Given the description of an element on the screen output the (x, y) to click on. 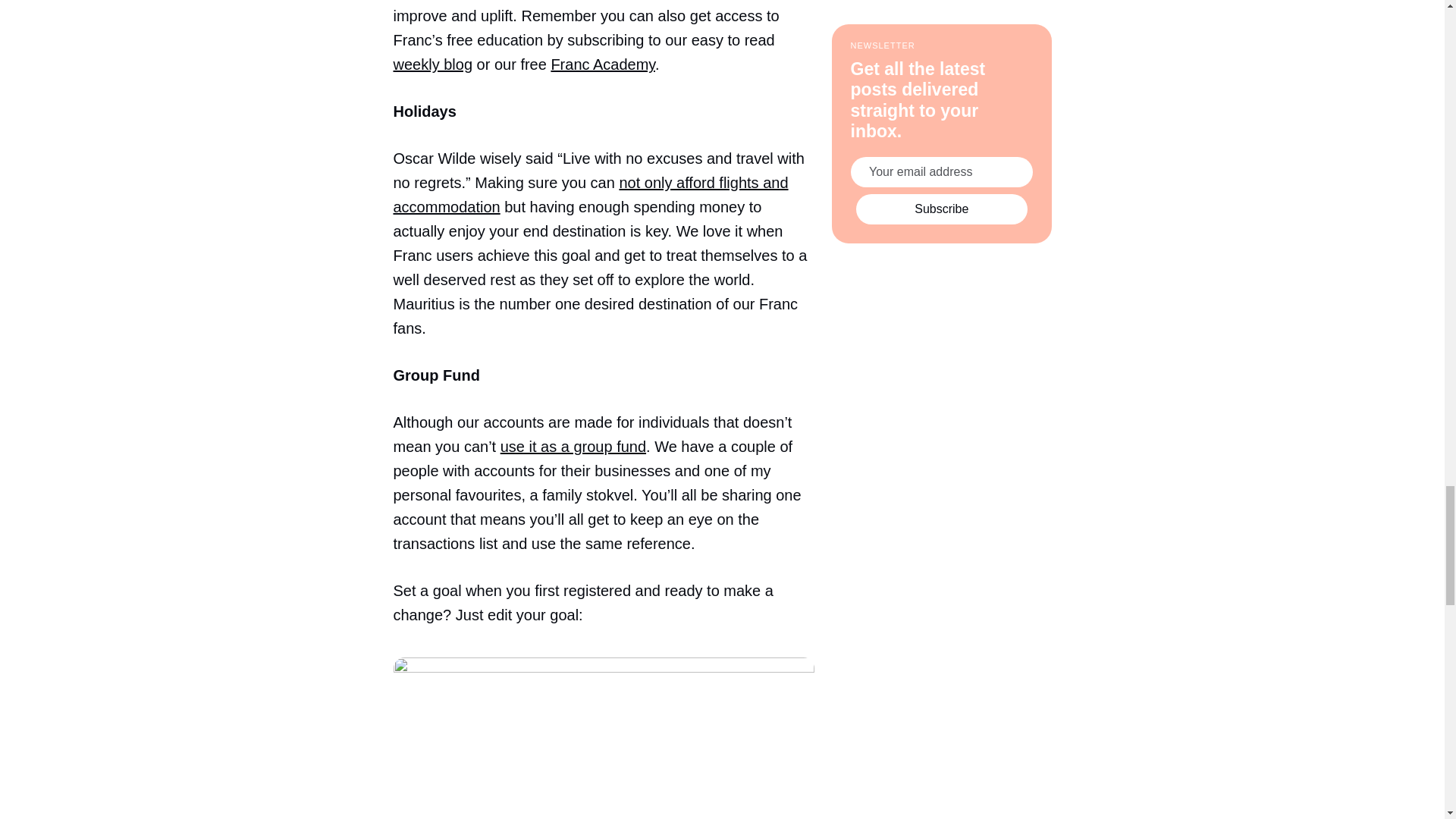
use it as a group fund (573, 446)
not only afford flights and accommodation (590, 194)
weekly blog (432, 64)
Franc Academy (601, 64)
